Given the description of an element on the screen output the (x, y) to click on. 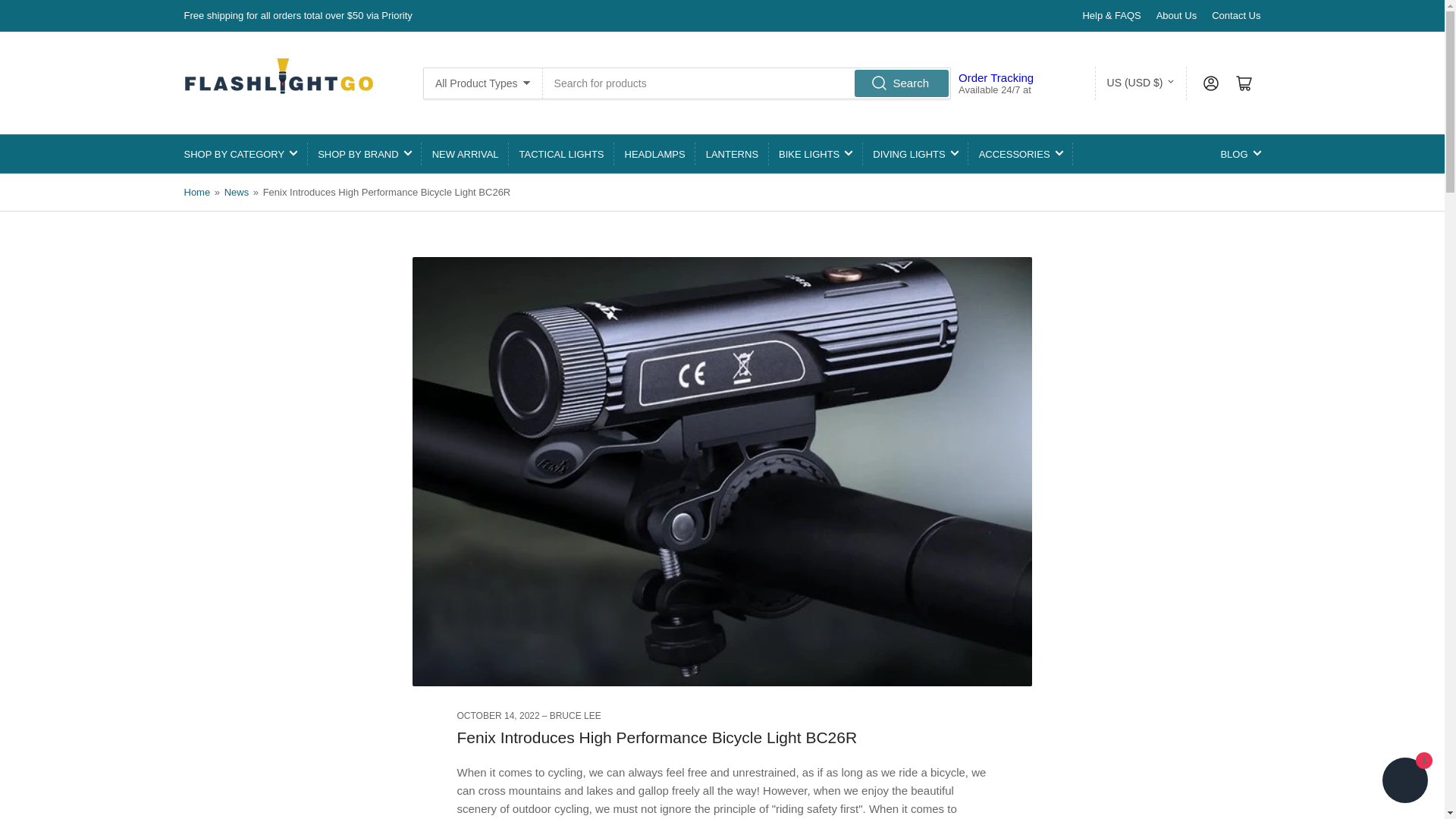
About Us (1176, 15)
Contact Us (1235, 15)
Order Tracking (995, 77)
Search (901, 82)
Order Tracking (995, 77)
Shopify online store chat (1404, 781)
